Given the description of an element on the screen output the (x, y) to click on. 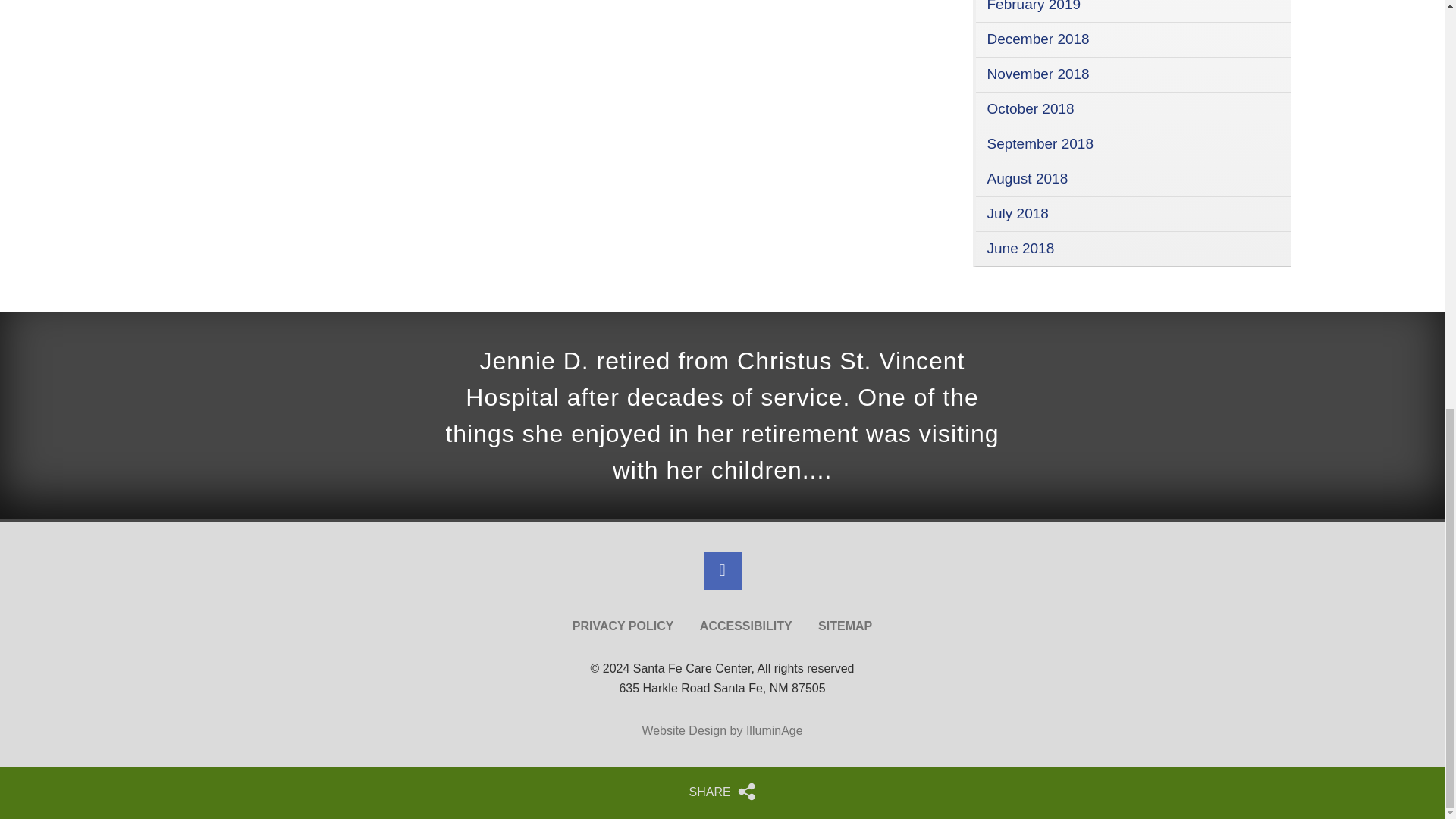
December 2018 (1038, 38)
November 2018 (1038, 73)
February 2019 (1034, 6)
October 2018 (1030, 108)
